Given the description of an element on the screen output the (x, y) to click on. 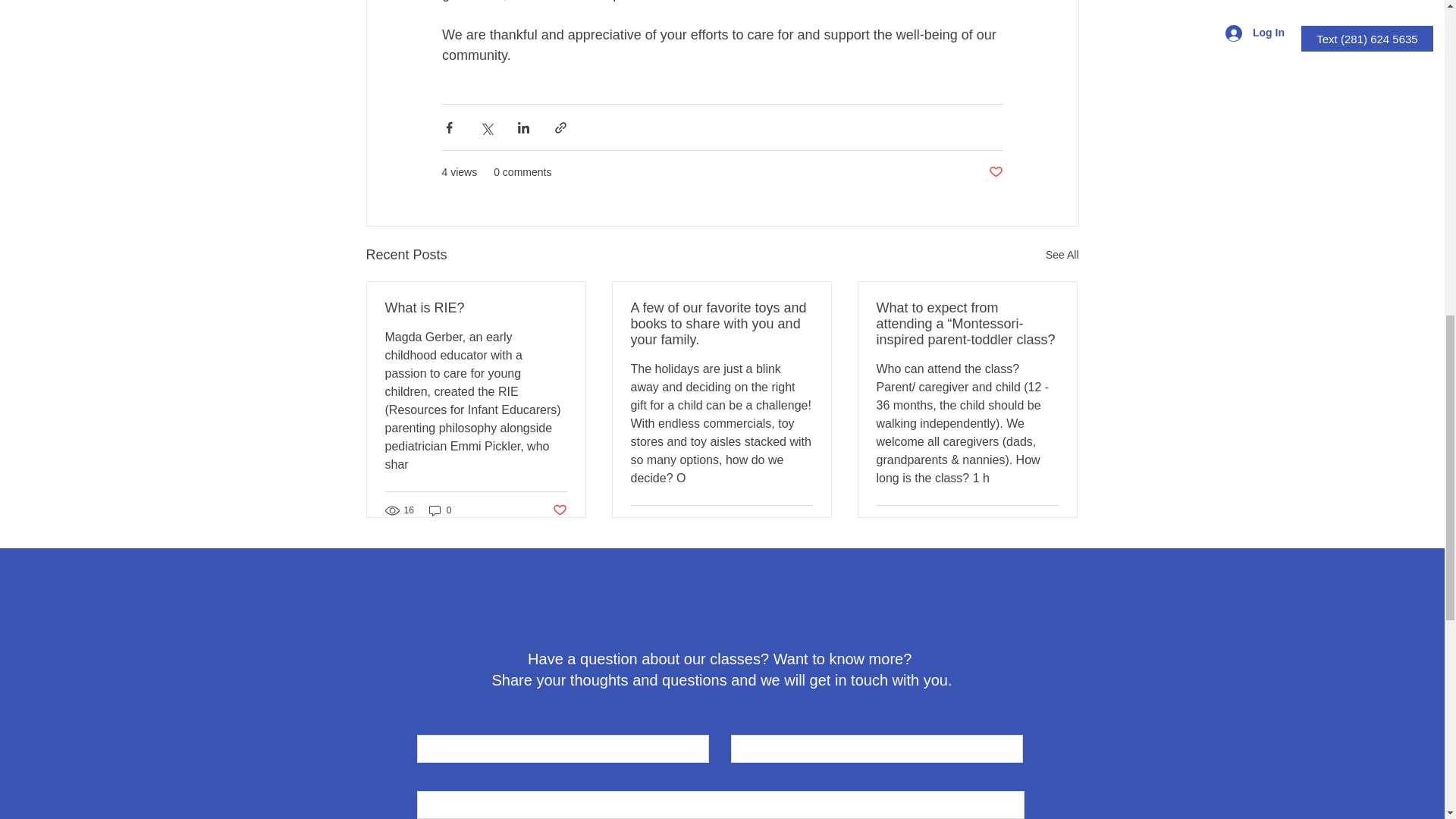
See All (1061, 255)
Post not marked as liked (995, 172)
Post not marked as liked (558, 509)
What is RIE? (476, 308)
0 (440, 510)
Post not marked as liked (1050, 523)
Post not marked as liked (804, 523)
